Given the description of an element on the screen output the (x, y) to click on. 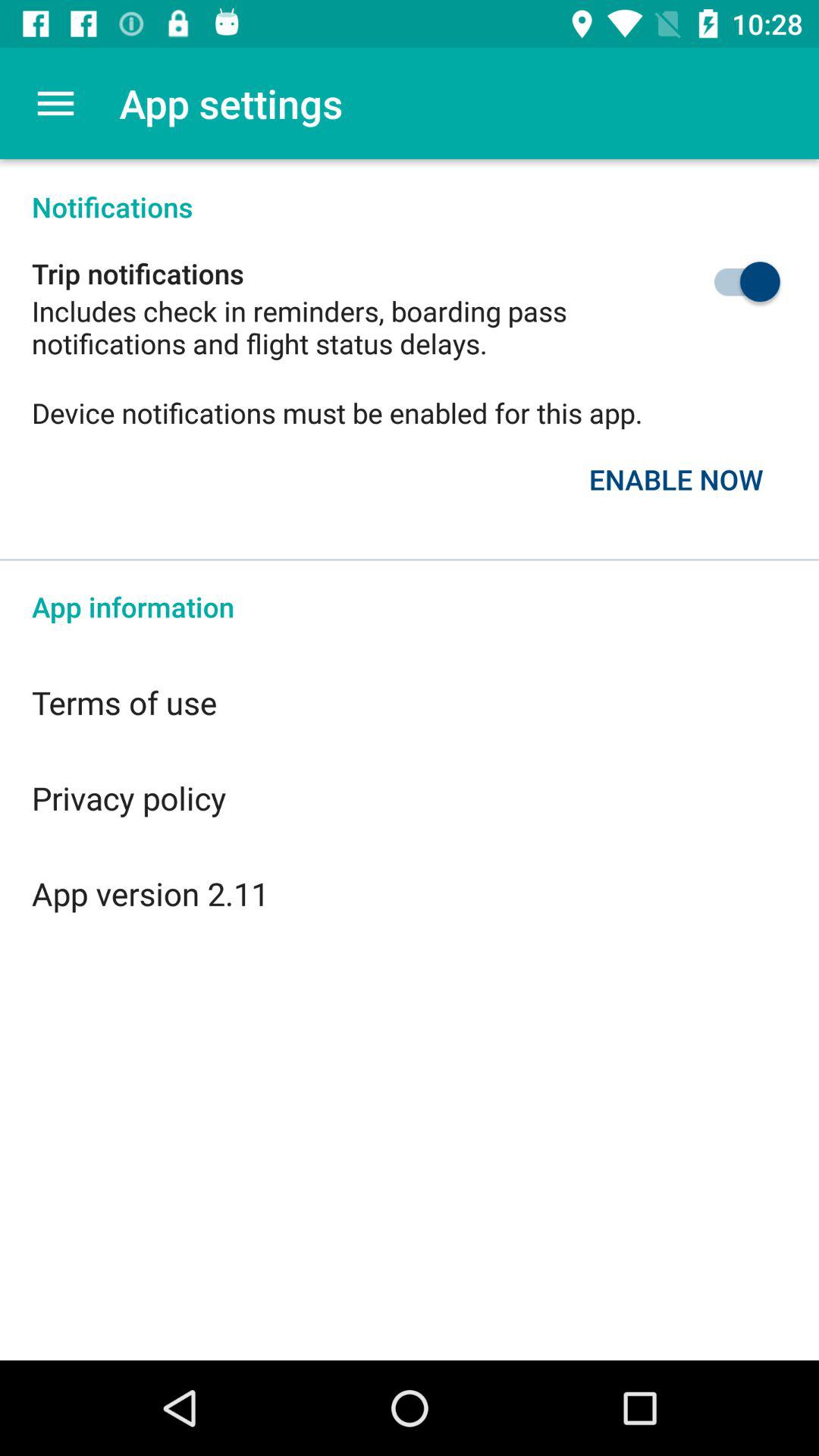
open icon below device notifications must (676, 479)
